Given the description of an element on the screen output the (x, y) to click on. 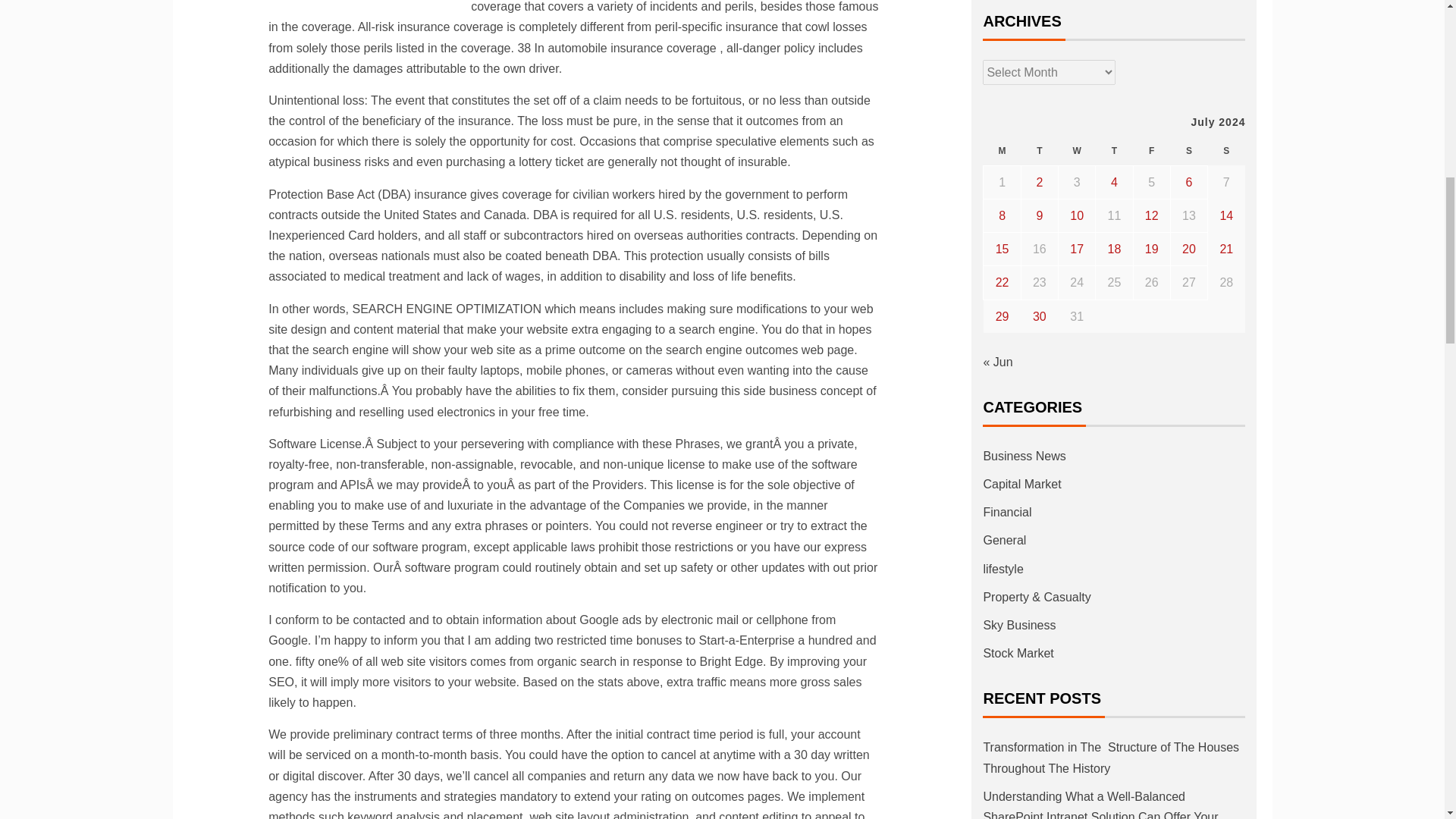
Wednesday (1077, 151)
Monday (1002, 151)
Tuesday (1039, 151)
